Given the description of an element on the screen output the (x, y) to click on. 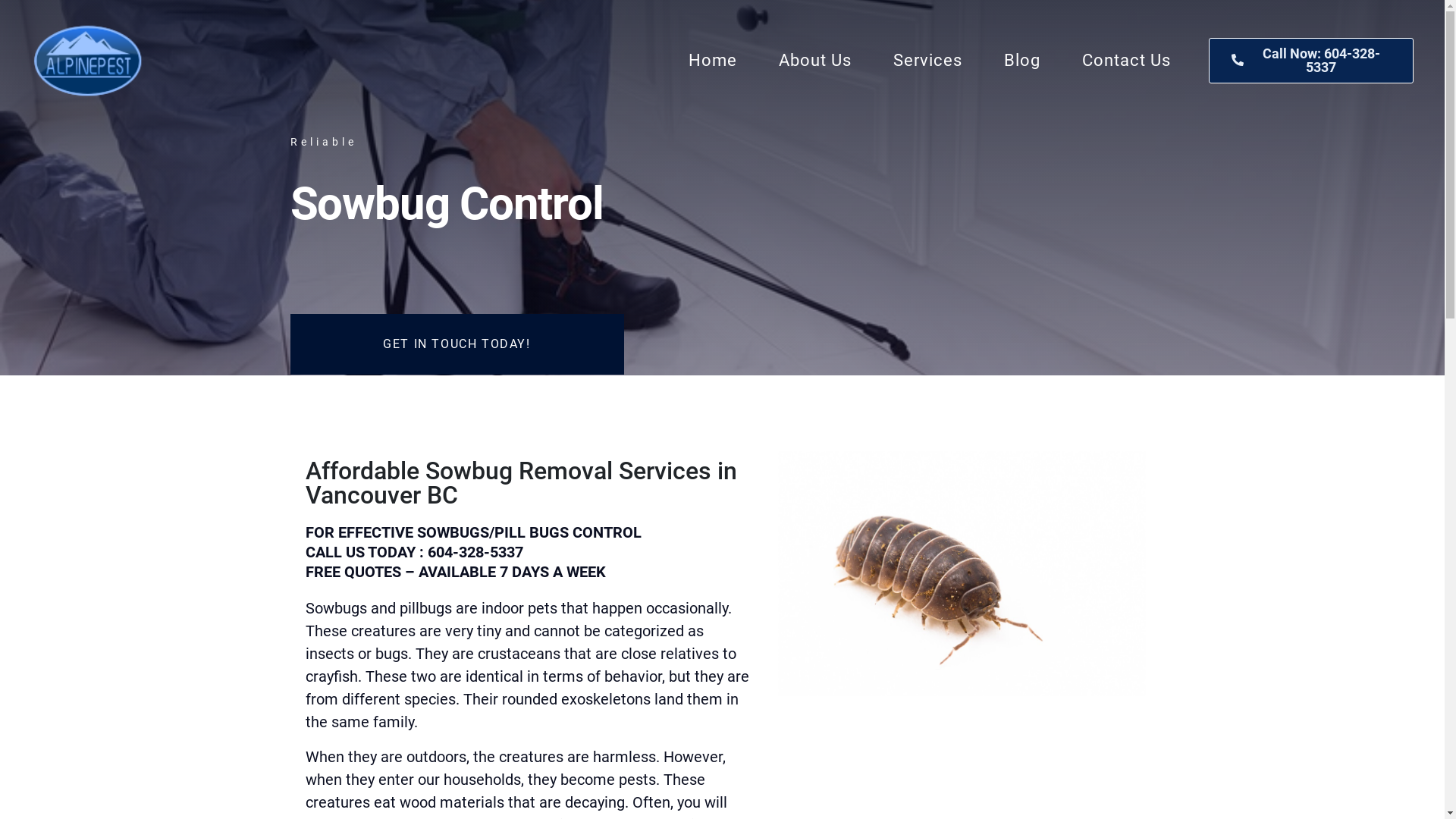
Blog Element type: text (1022, 60)
GET IN TOUCH TODAY! Element type: text (456, 343)
Call Now: 604-328-5337 Element type: text (1310, 60)
About Us Element type: text (814, 60)
Contact Us Element type: text (1126, 60)
Home Element type: text (712, 60)
Services Element type: text (927, 60)
